Given the description of an element on the screen output the (x, y) to click on. 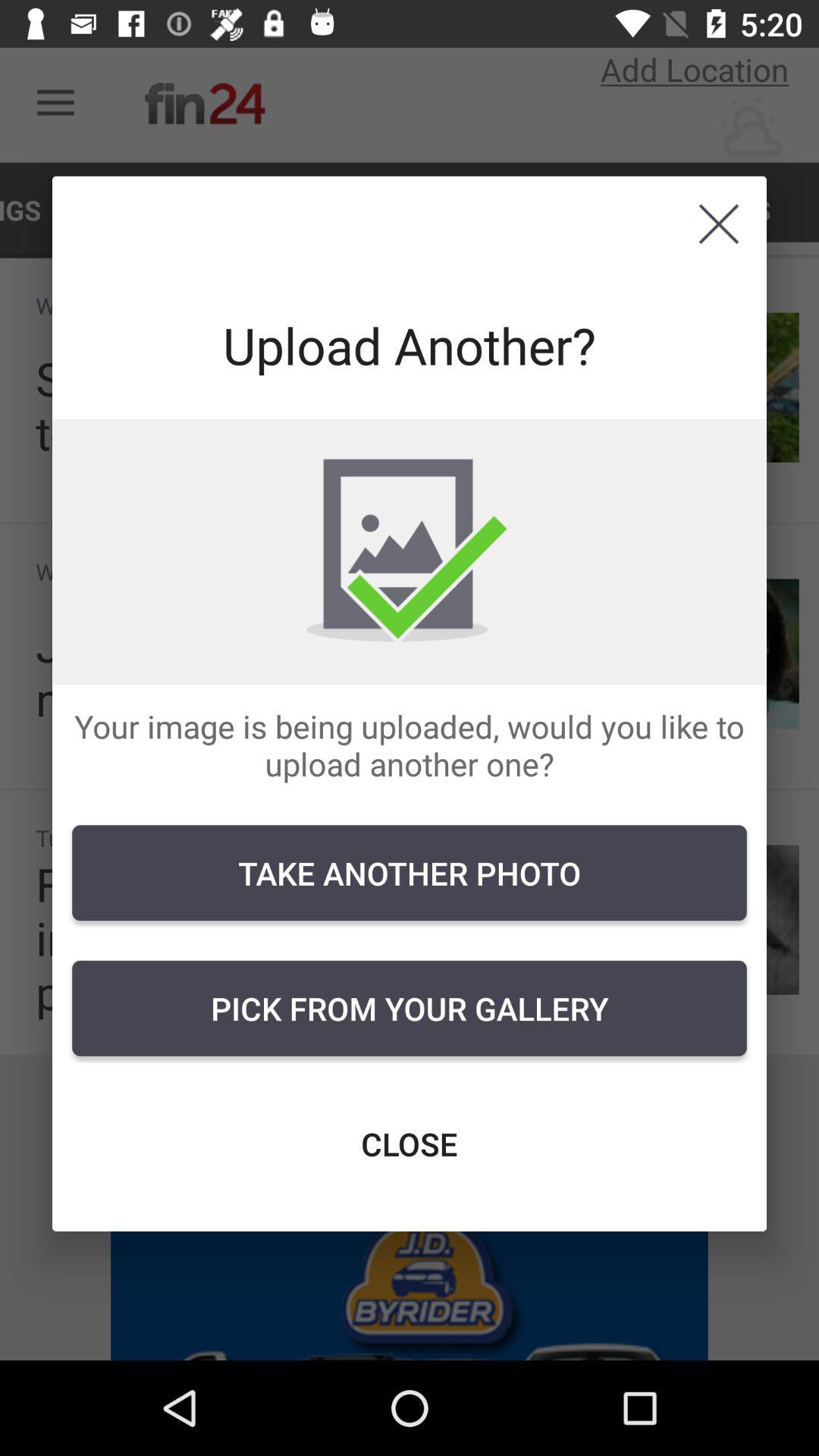
launch pick from your icon (409, 1008)
